Given the description of an element on the screen output the (x, y) to click on. 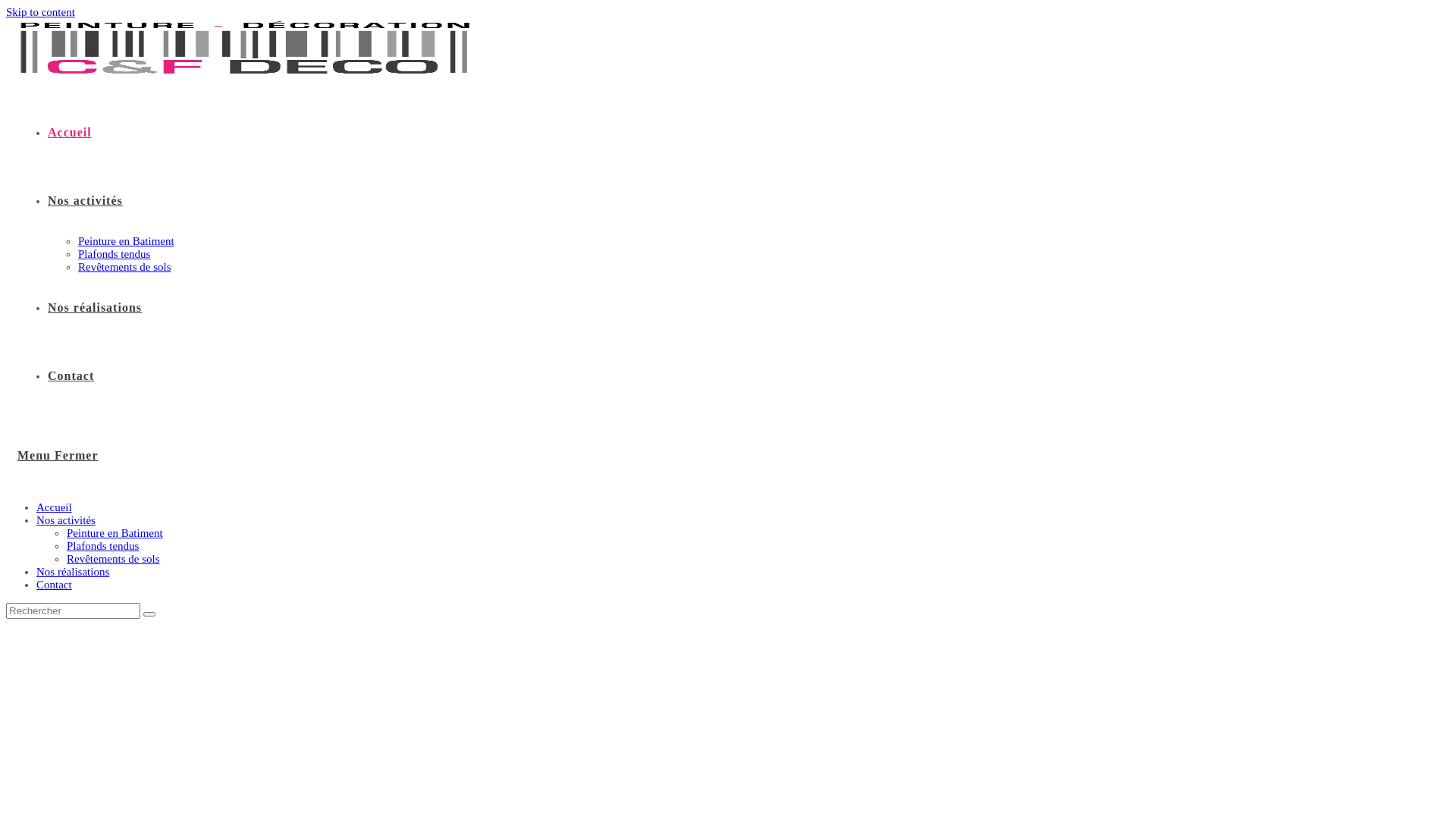
Contact Element type: text (54, 584)
Accueil Element type: text (54, 507)
Accueil Element type: text (69, 131)
Peinture en Batiment Element type: text (126, 241)
Plafonds tendus Element type: text (114, 253)
Menu Fermer Element type: text (57, 454)
Contact Element type: text (70, 375)
Skip to content Element type: text (40, 12)
Peinture en Batiment Element type: text (114, 533)
Plafonds tendus Element type: text (102, 545)
